Given the description of an element on the screen output the (x, y) to click on. 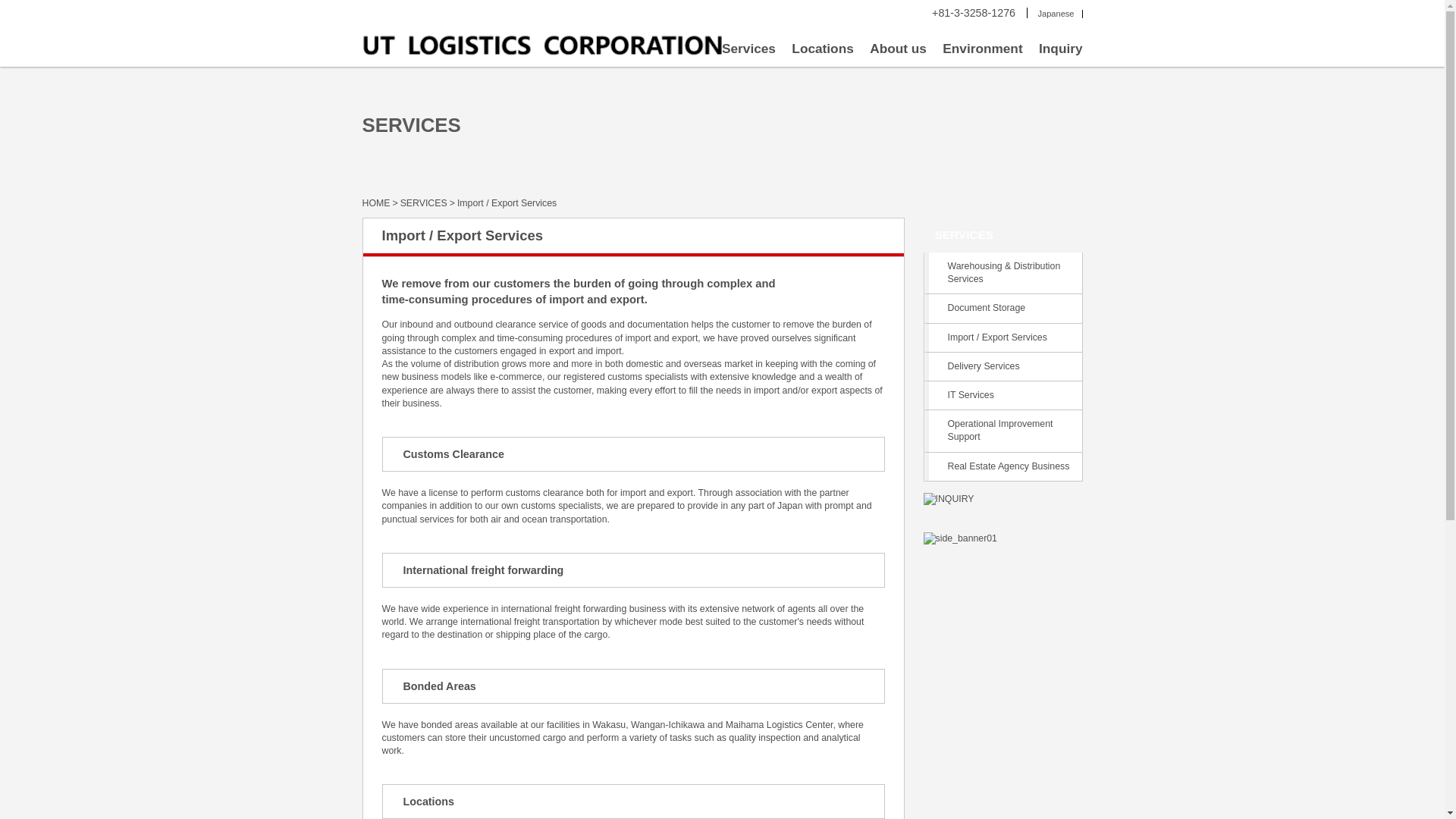
Inquiry (1060, 52)
About us (897, 52)
Services (749, 52)
SERVICES (1003, 234)
Locations (822, 52)
SERVICES (424, 203)
HOME (377, 203)
Environment (982, 52)
Japanese (1055, 13)
Document Storage (1002, 308)
